Given the description of an element on the screen output the (x, y) to click on. 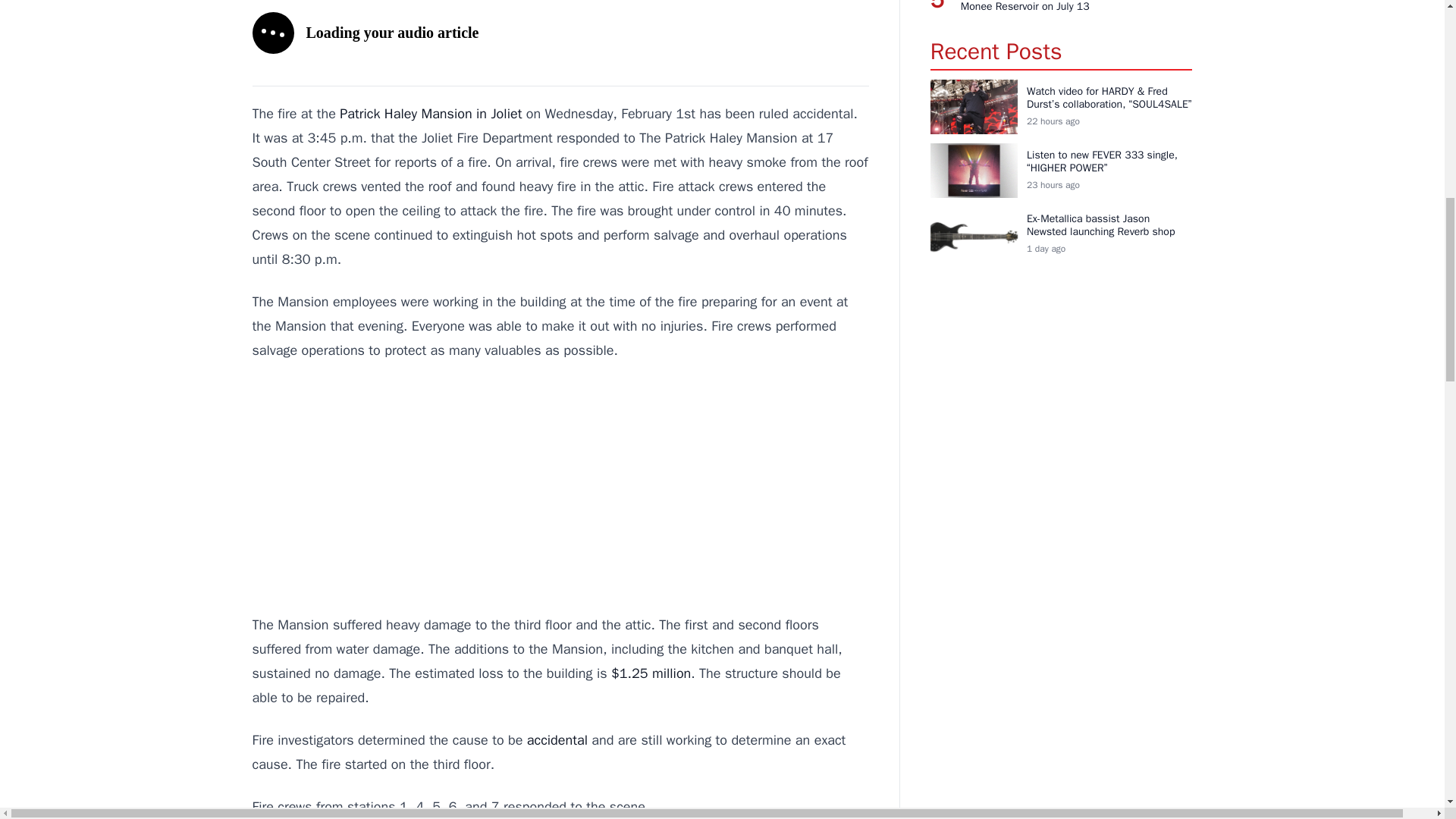
3rd party ad content (560, 487)
